Given the description of an element on the screen output the (x, y) to click on. 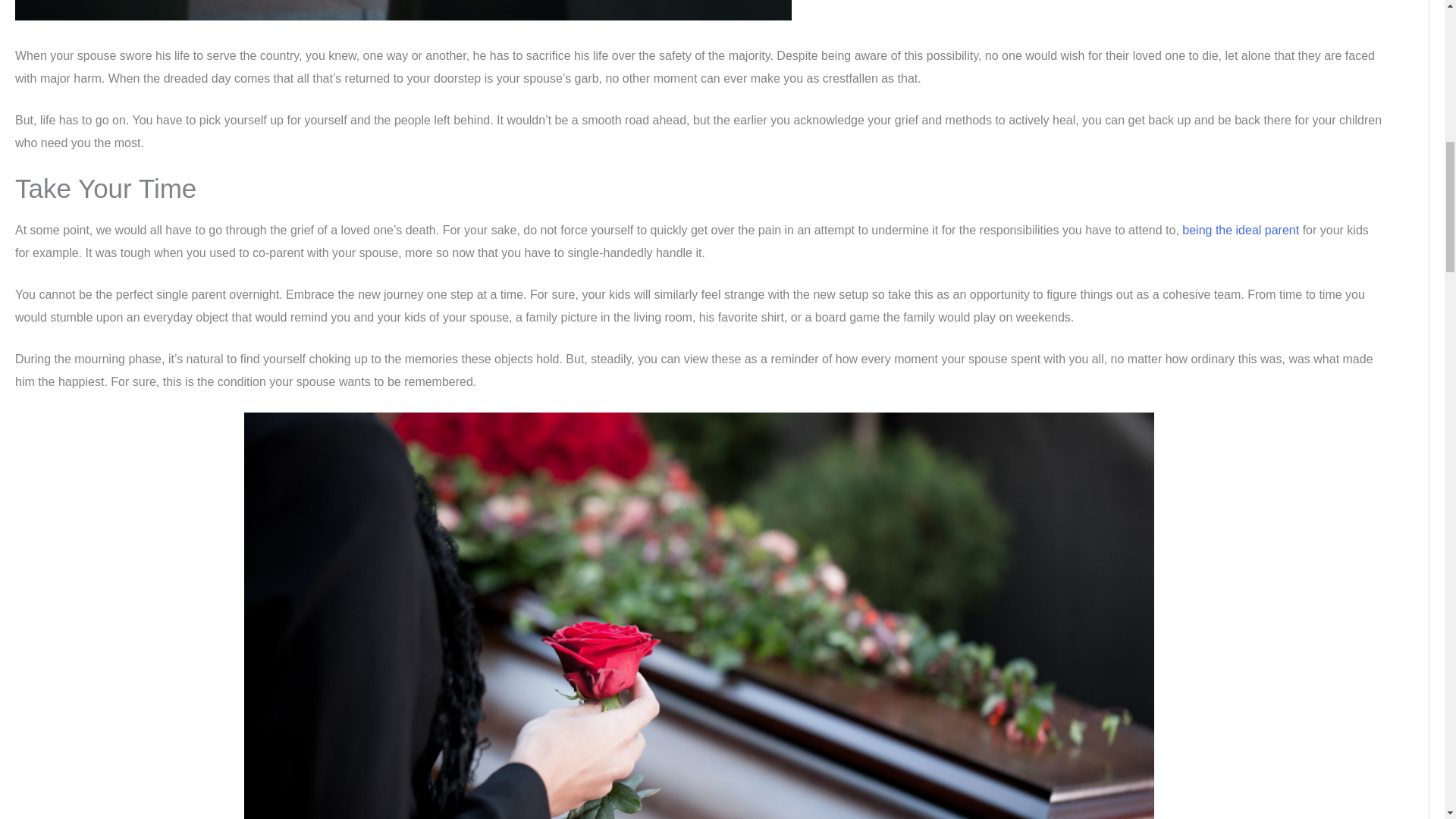
being the ideal parent (1240, 229)
